Given the description of an element on the screen output the (x, y) to click on. 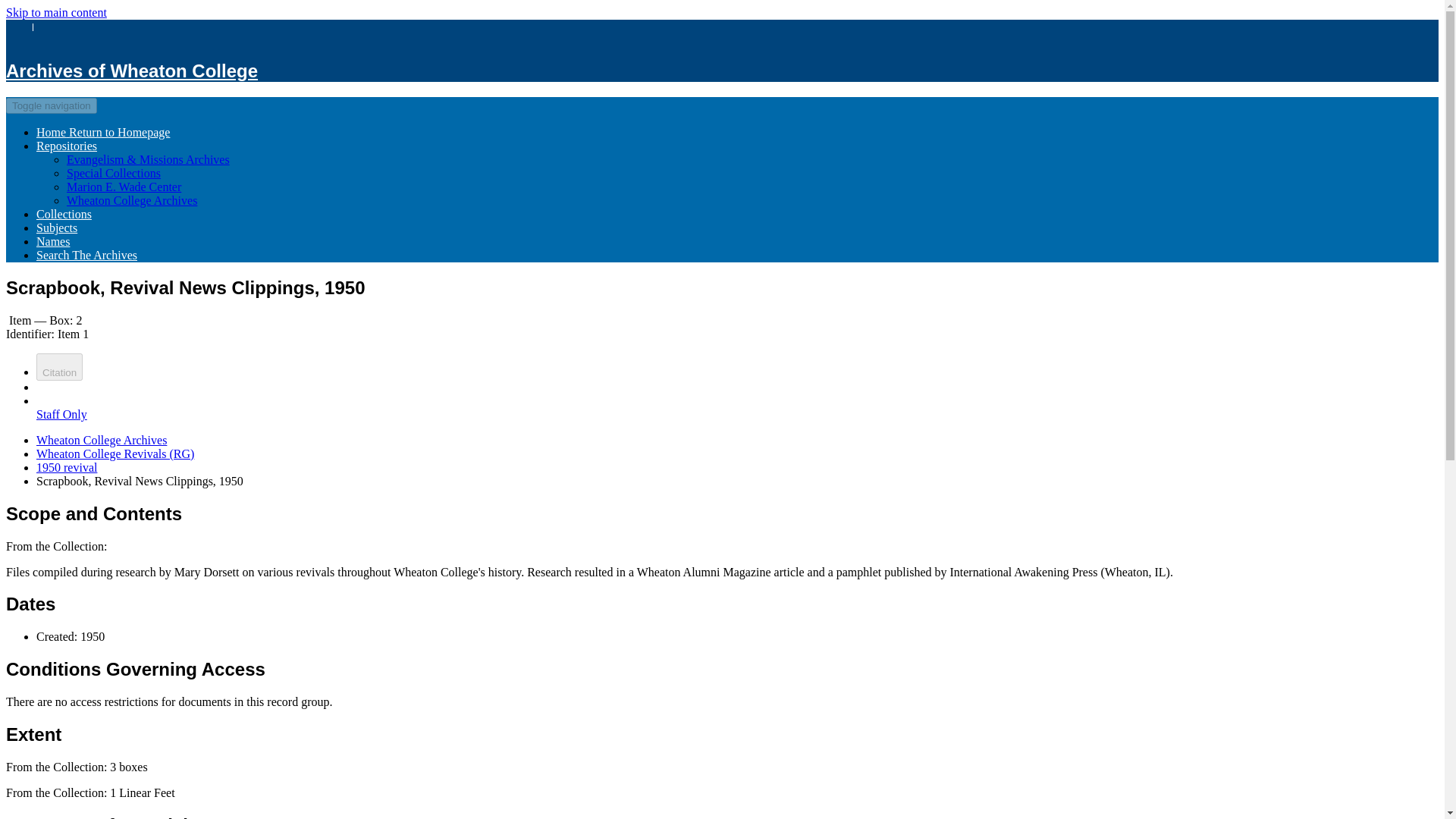
Special Collections (113, 173)
Toggle navigation (51, 105)
Wheaton College Archives (101, 440)
Wheaton College Archives (131, 200)
Staff Only (61, 420)
Home Return to Homepage (103, 132)
Search The Archives (86, 254)
Return to the Archives of Wheaton College homepage (131, 70)
1950 revival (66, 467)
Return to the Archives of Wheaton College homepage (103, 132)
Marion E. Wade Center (123, 186)
Names (52, 241)
Skip to main content (55, 11)
Collections (63, 214)
Repositories (66, 145)
